Given the description of an element on the screen output the (x, y) to click on. 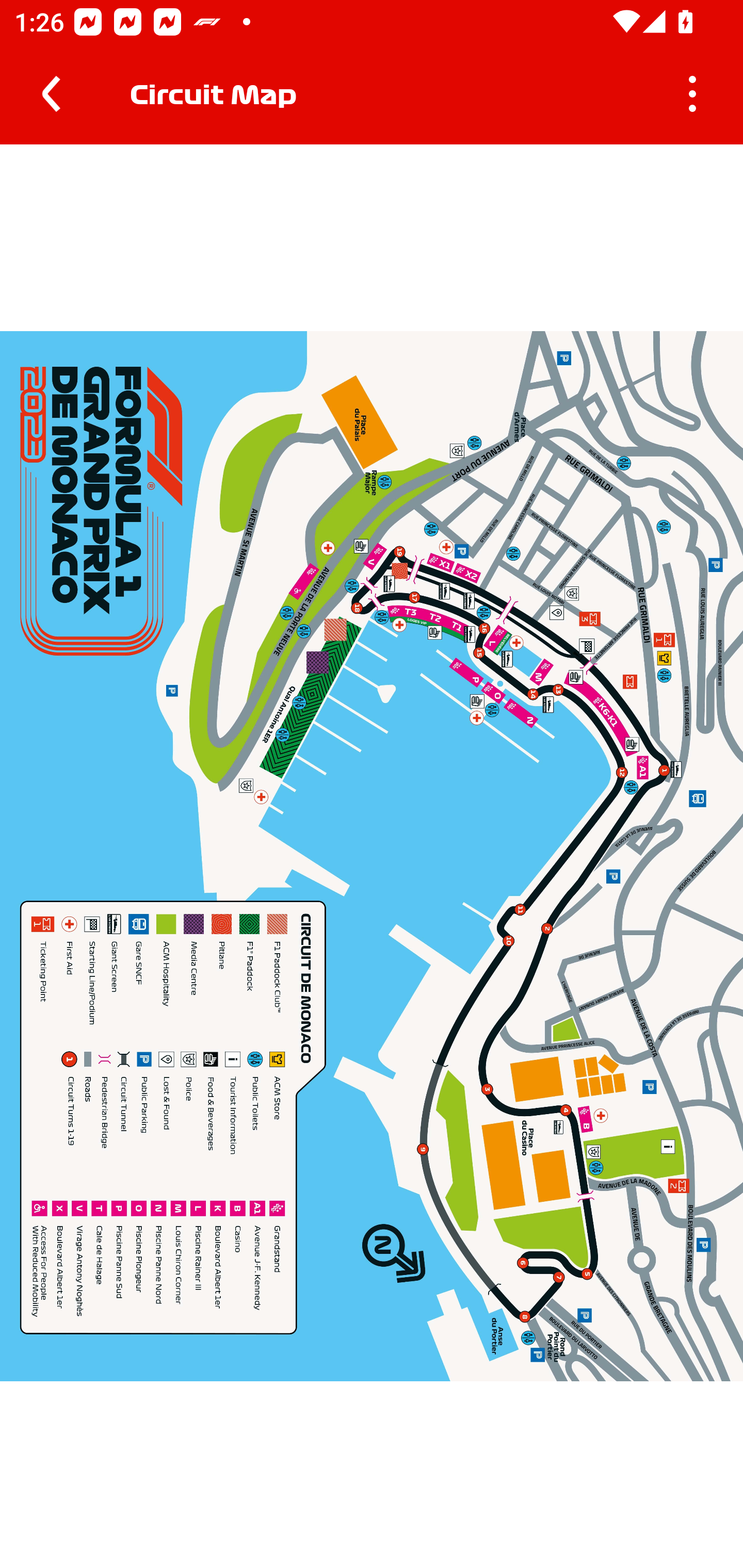
Navigate up (50, 93)
